Given the description of an element on the screen output the (x, y) to click on. 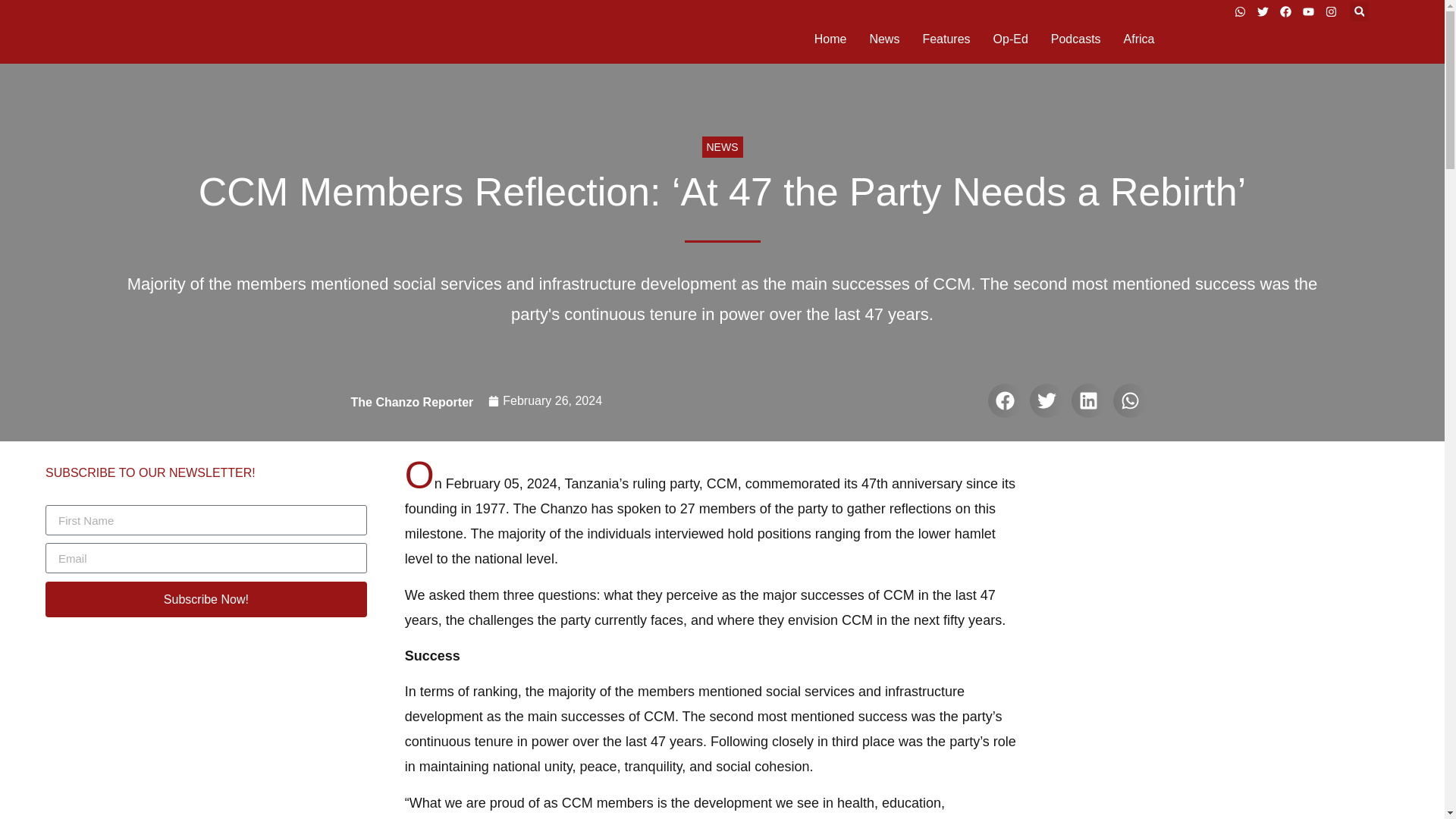
Africa (1139, 39)
Home (830, 39)
Features (945, 39)
Podcasts (1075, 39)
Op-Ed (1009, 39)
News (884, 39)
